Given the description of an element on the screen output the (x, y) to click on. 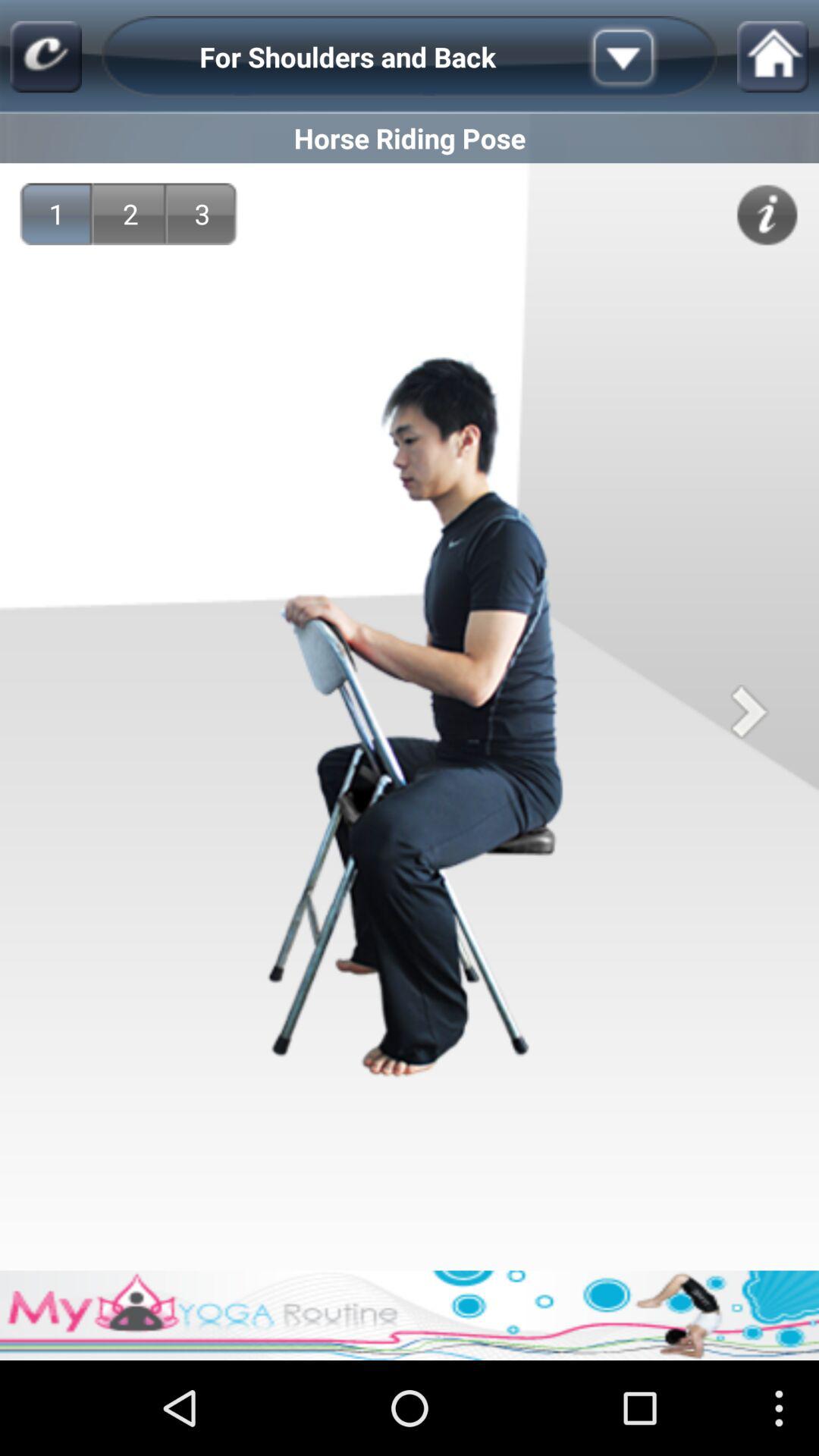
go home (772, 56)
